Given the description of an element on the screen output the (x, y) to click on. 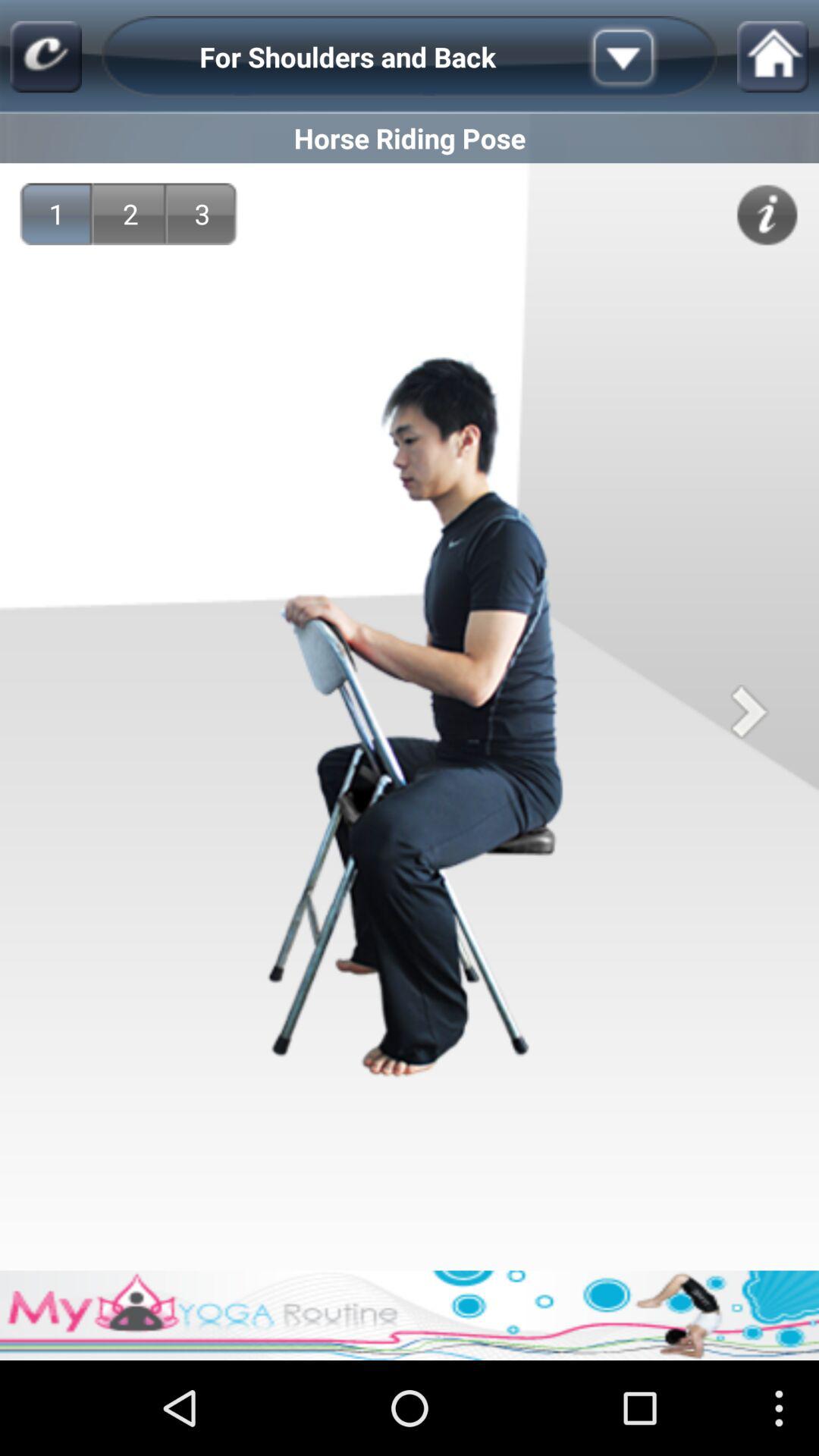
go home (772, 56)
